Given the description of an element on the screen output the (x, y) to click on. 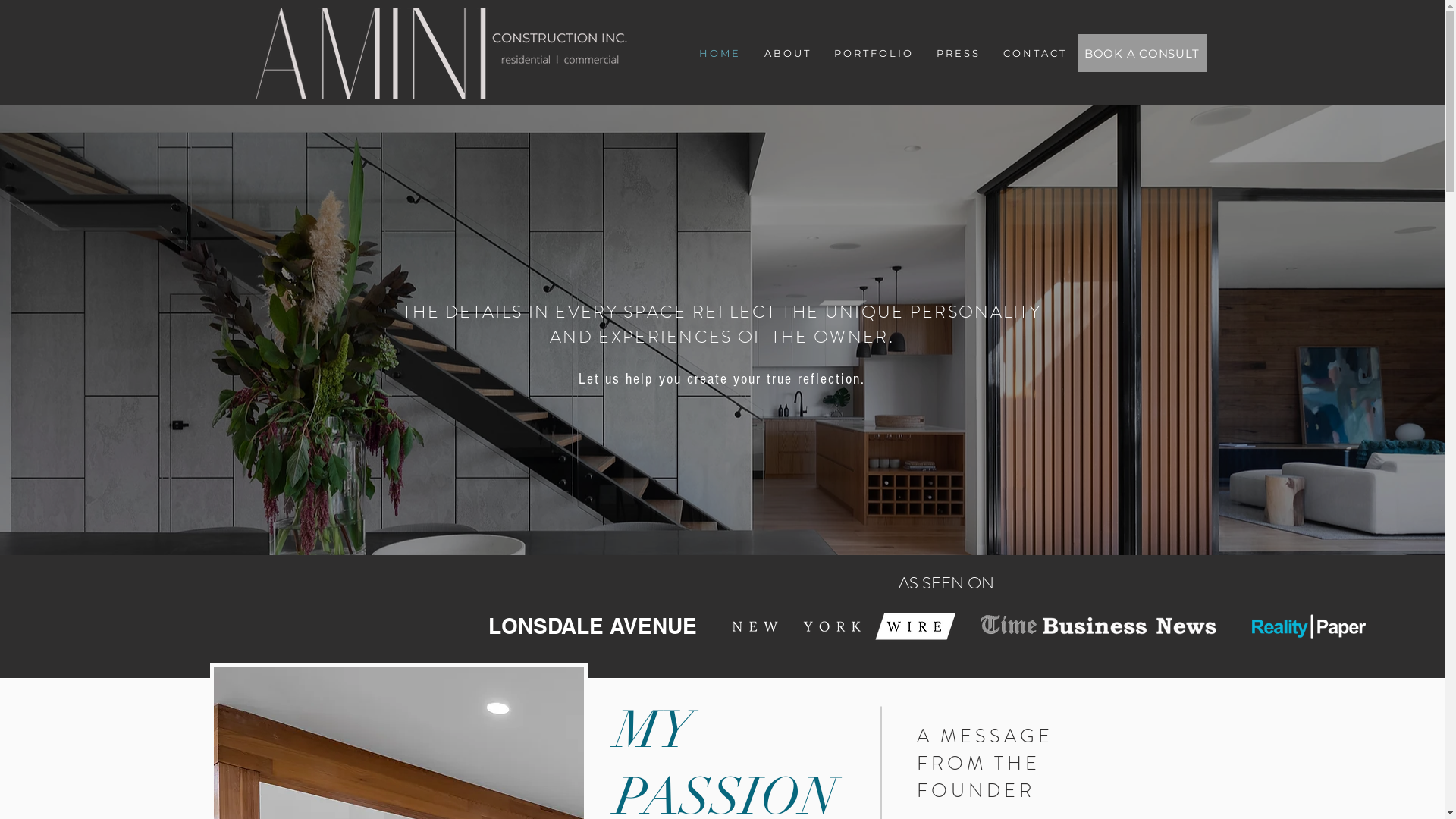
P R E S S Element type: text (956, 53)
C O N T A C T Element type: text (1033, 53)
BOOK A CONSULT Element type: text (1140, 53)
P O R T F O L I O Element type: text (873, 53)
A B O U T Element type: text (785, 53)
H O M E Element type: text (717, 53)
LONSDALE AVENUE Element type: text (592, 628)
